Given the description of an element on the screen output the (x, y) to click on. 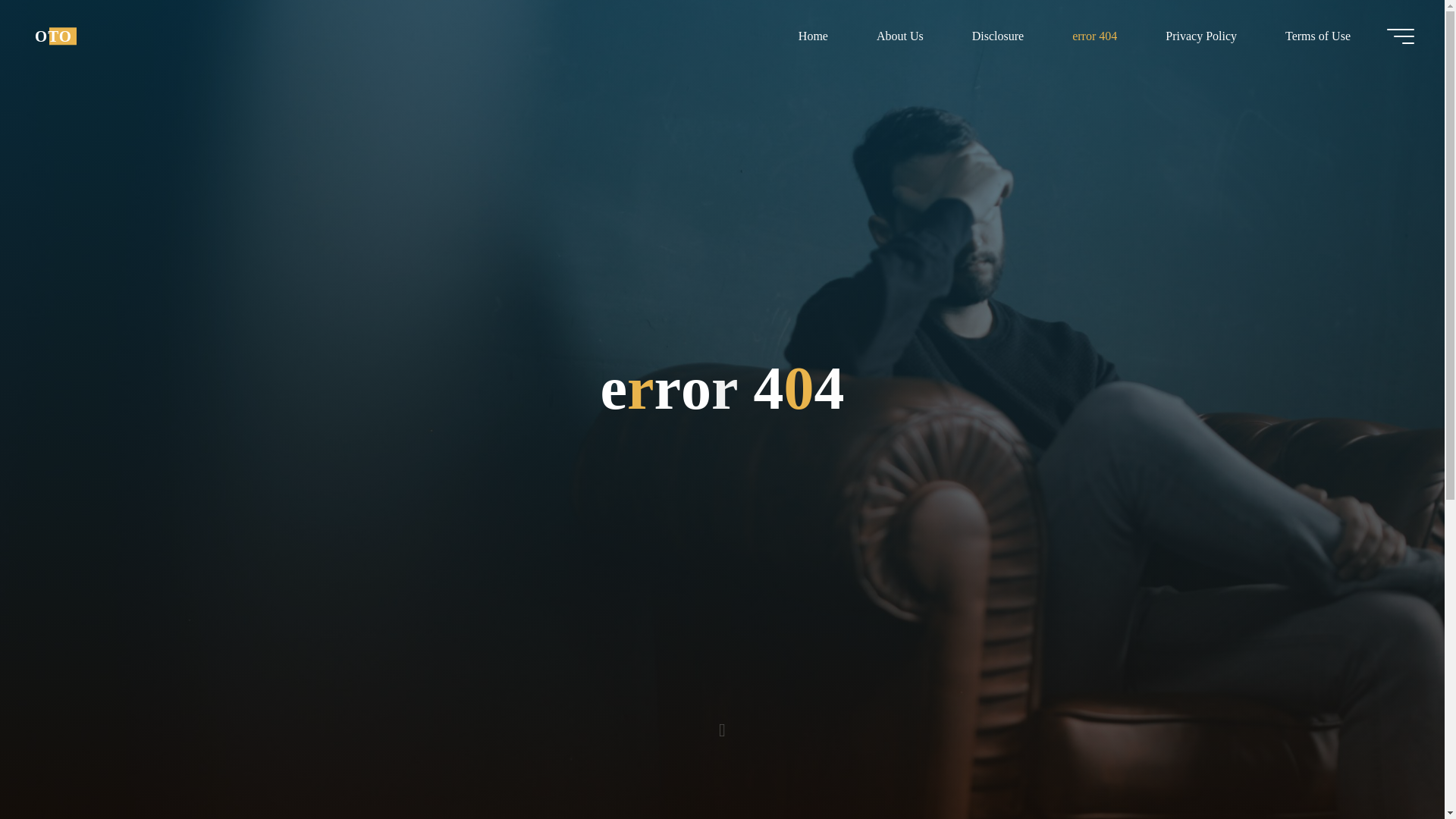
Read more (721, 724)
About Us (899, 35)
Home (812, 35)
error 404 (1094, 35)
Privacy Policy (1200, 35)
Disclosure (997, 35)
OTO (53, 36)
Terms of Use (1317, 35)
